Given the description of an element on the screen output the (x, y) to click on. 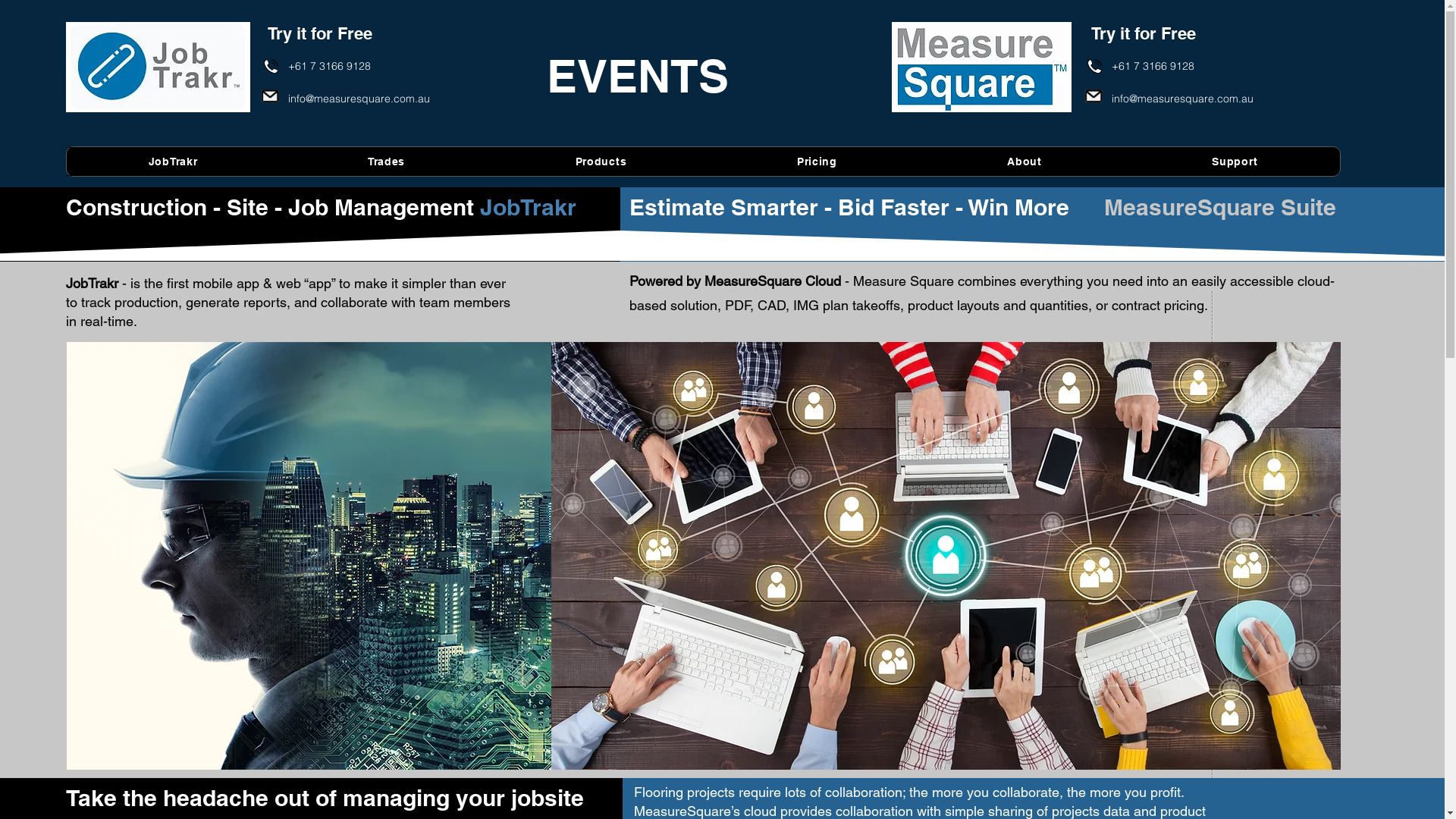
Pricing Element type: text (817, 161)
Find out more Element type: text (1111, 617)
info@measuresquare.com.au Element type: text (1182, 98)
Products Element type: text (600, 161)
About Element type: text (1024, 161)
Trades Element type: text (386, 161)
Support Element type: text (1234, 161)
JobTrakr Element type: text (172, 161)
info@measuresquare.com.au Element type: text (358, 98)
